Given the description of an element on the screen output the (x, y) to click on. 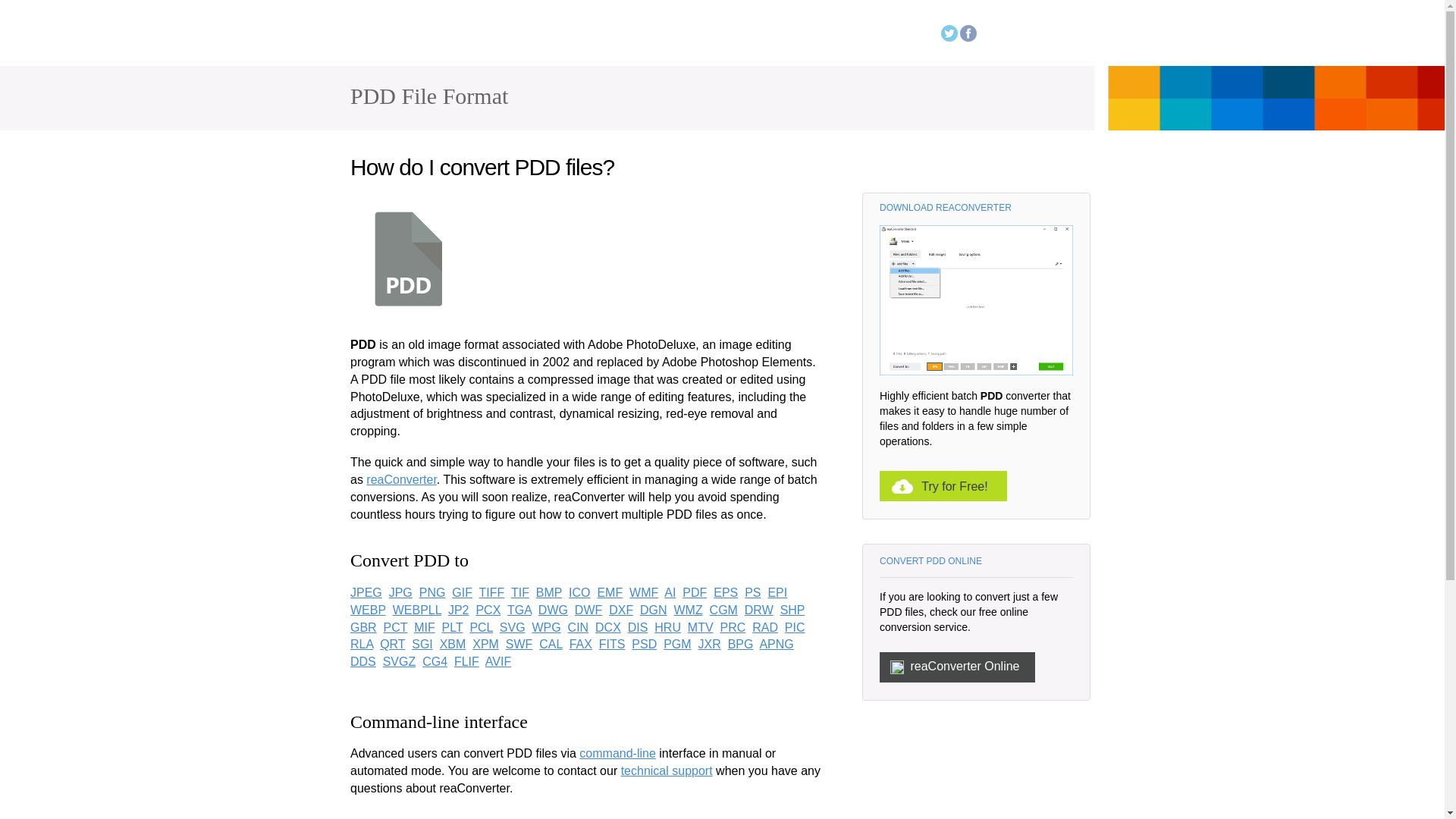
MIF (424, 626)
WEBP (367, 609)
DGN (653, 609)
reaConverter (415, 37)
DXF (620, 609)
WMF (643, 592)
TIF (520, 592)
GIF (461, 592)
CIN (578, 626)
SHP (792, 609)
